Given the description of an element on the screen output the (x, y) to click on. 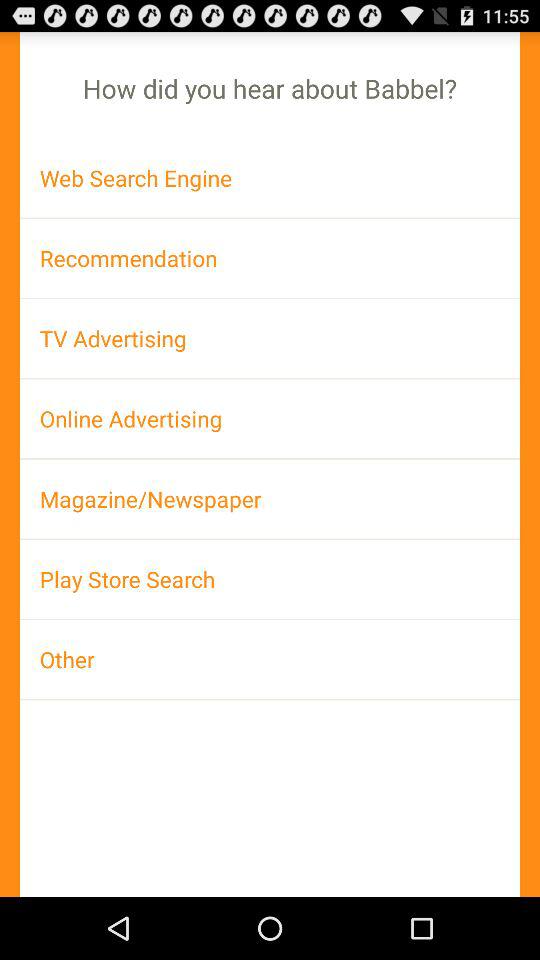
swipe to the online advertising (269, 418)
